Given the description of an element on the screen output the (x, y) to click on. 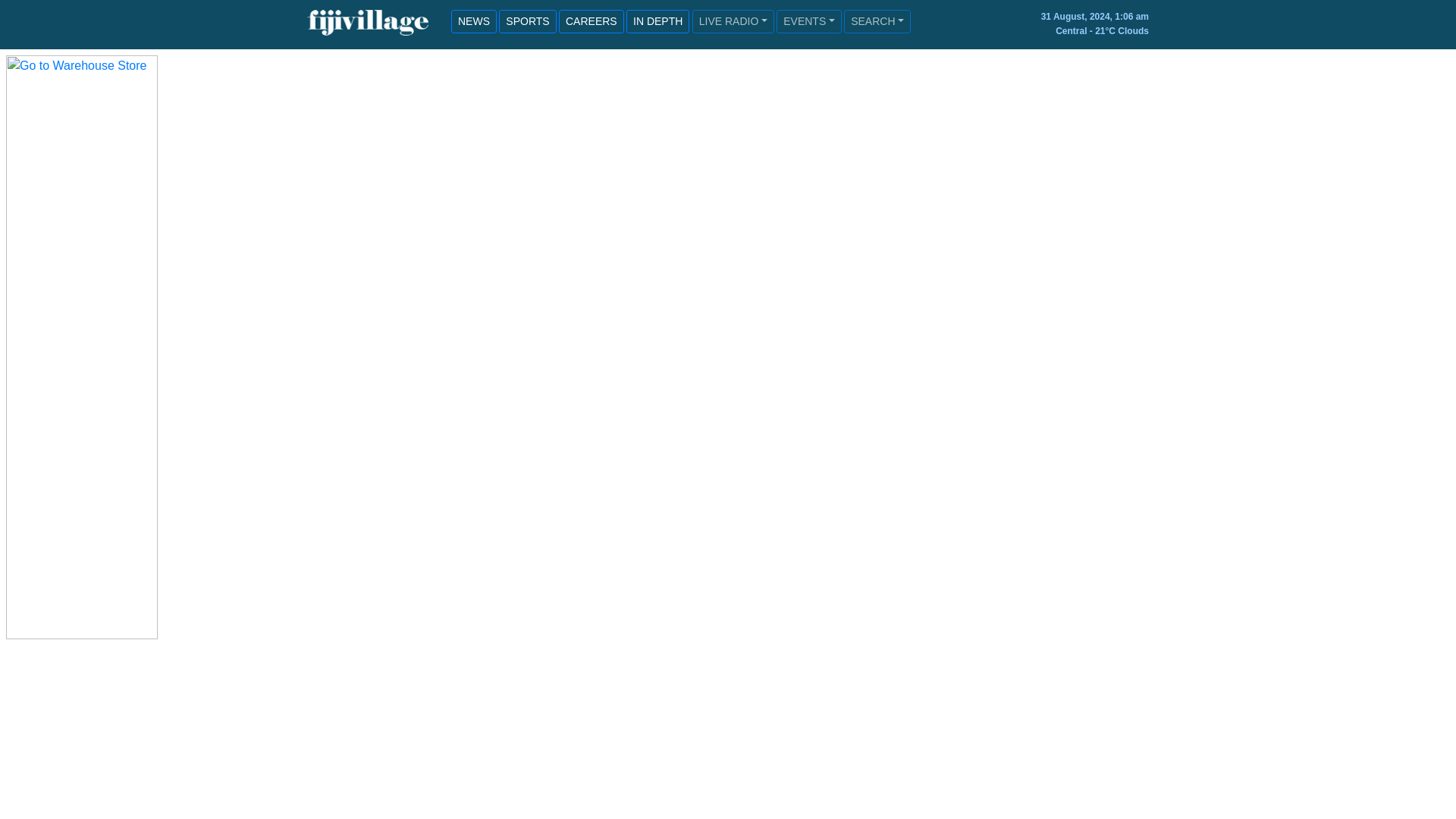
IN DEPTH (657, 21)
EVENTS (808, 21)
CAREERS (591, 21)
SPORTS (527, 21)
LIVE RADIO (733, 21)
NEWS (473, 21)
